Given the description of an element on the screen output the (x, y) to click on. 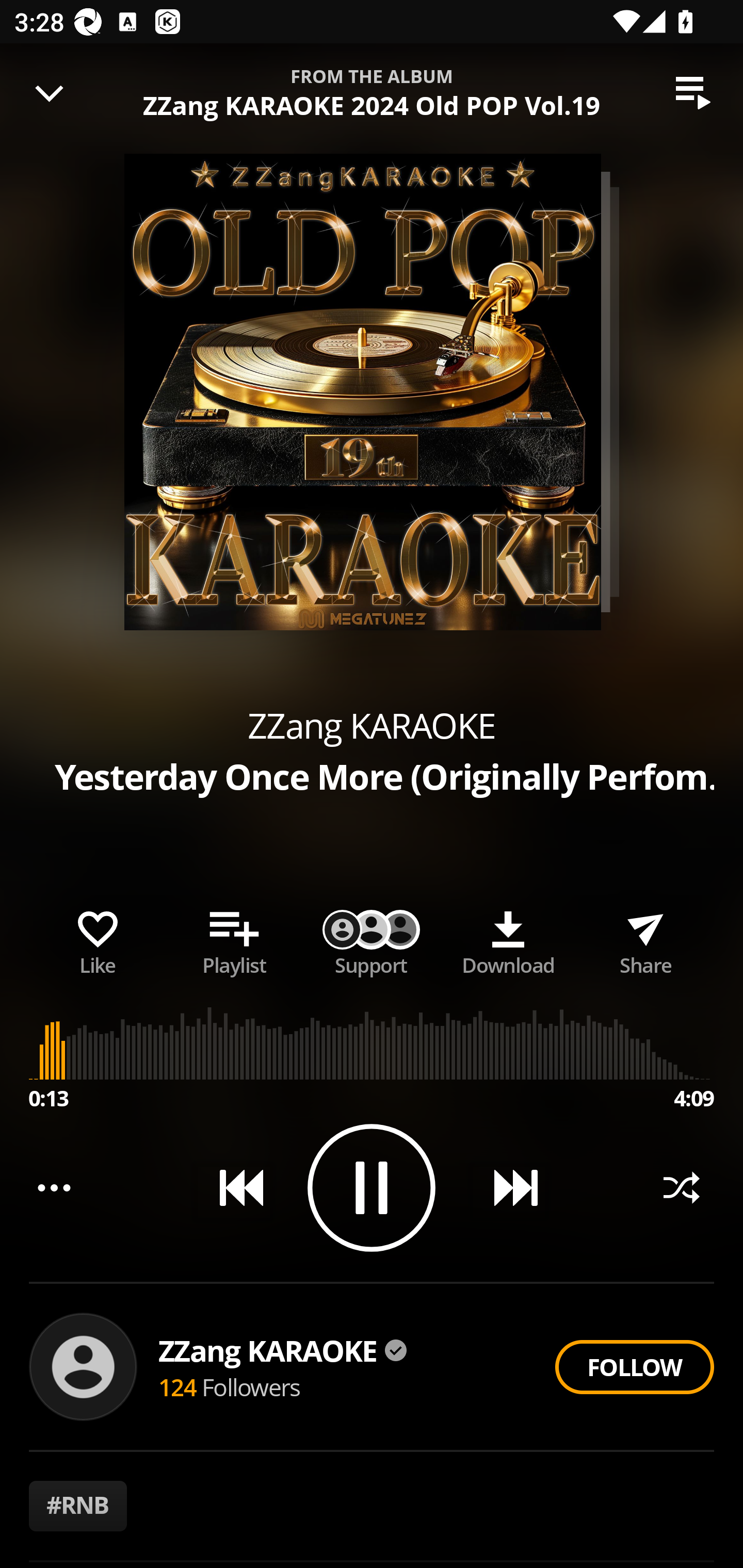
Yesterday Once More Cancel (371, 82)
Cancel (670, 82)
Minimise player (49, 93)
Album art (362, 391)
ZZang KARAOKE (371, 724)
Like (97, 939)
Add song to playlist Playlist (234, 939)
Support (371, 939)
Download (507, 939)
Share (645, 939)
Play/Pause (371, 1187)
Previous song (233, 1187)
Next song (508, 1187)
ZZang KARAOKE (282, 1350)
FOLLOW Follow (634, 1366)
124 (177, 1386)
#RNB (77, 1505)
